Given the description of an element on the screen output the (x, y) to click on. 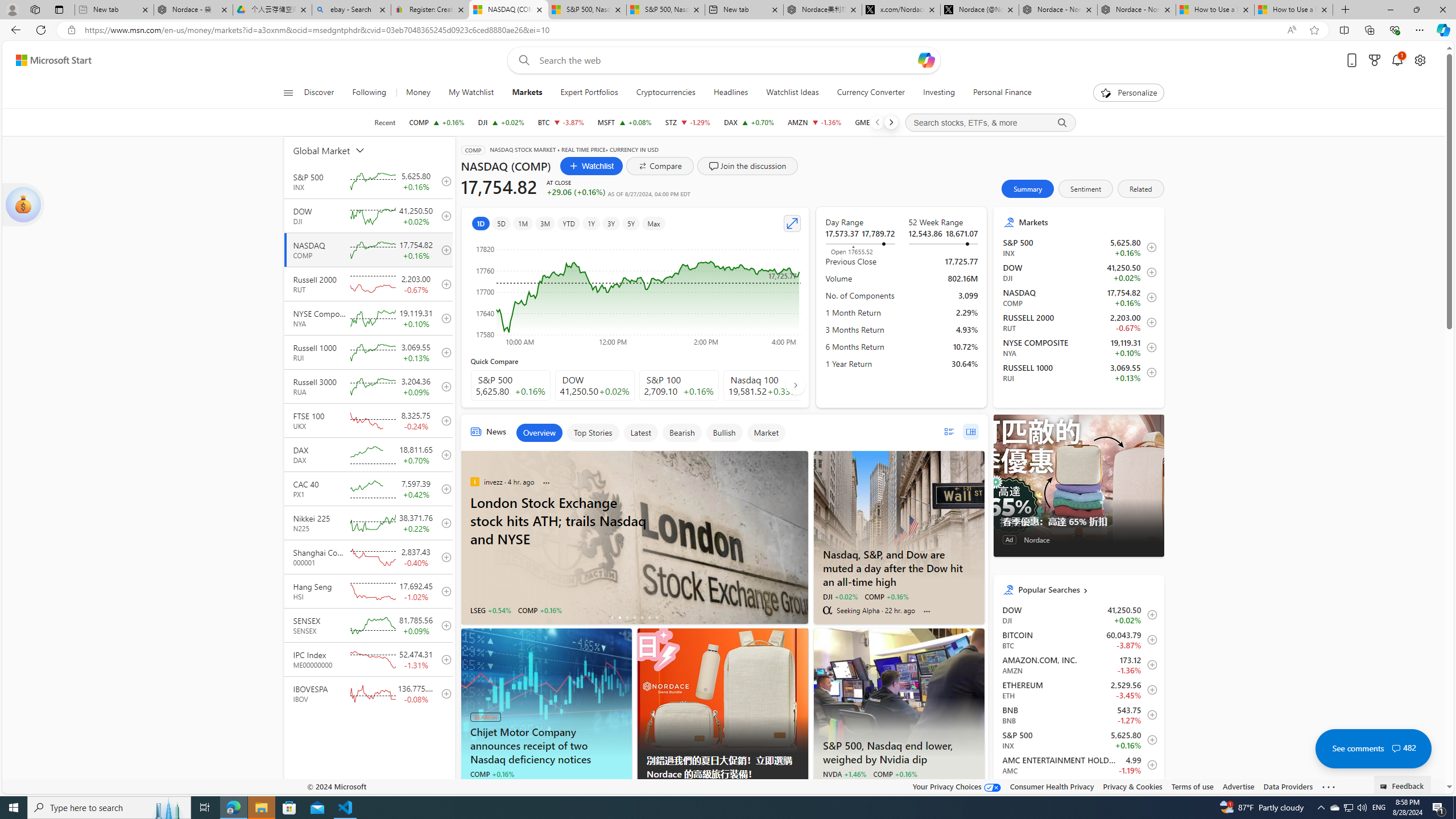
Watchlist Ideas (791, 92)
ADA Cardano decrease 0.36 -0.00 -1.27% itemundefined (1078, 789)
Class: cwt-icon-vector (1395, 748)
Data Providers (1288, 785)
Microsoft rewards (1374, 60)
Cryptocurrencies (665, 92)
DAX DAX increase 18,811.65 +129.84 +0.70% (748, 122)
list layout (948, 431)
3M (545, 223)
Skip to content (49, 59)
Seeking Alpha (474, 786)
